Given the description of an element on the screen output the (x, y) to click on. 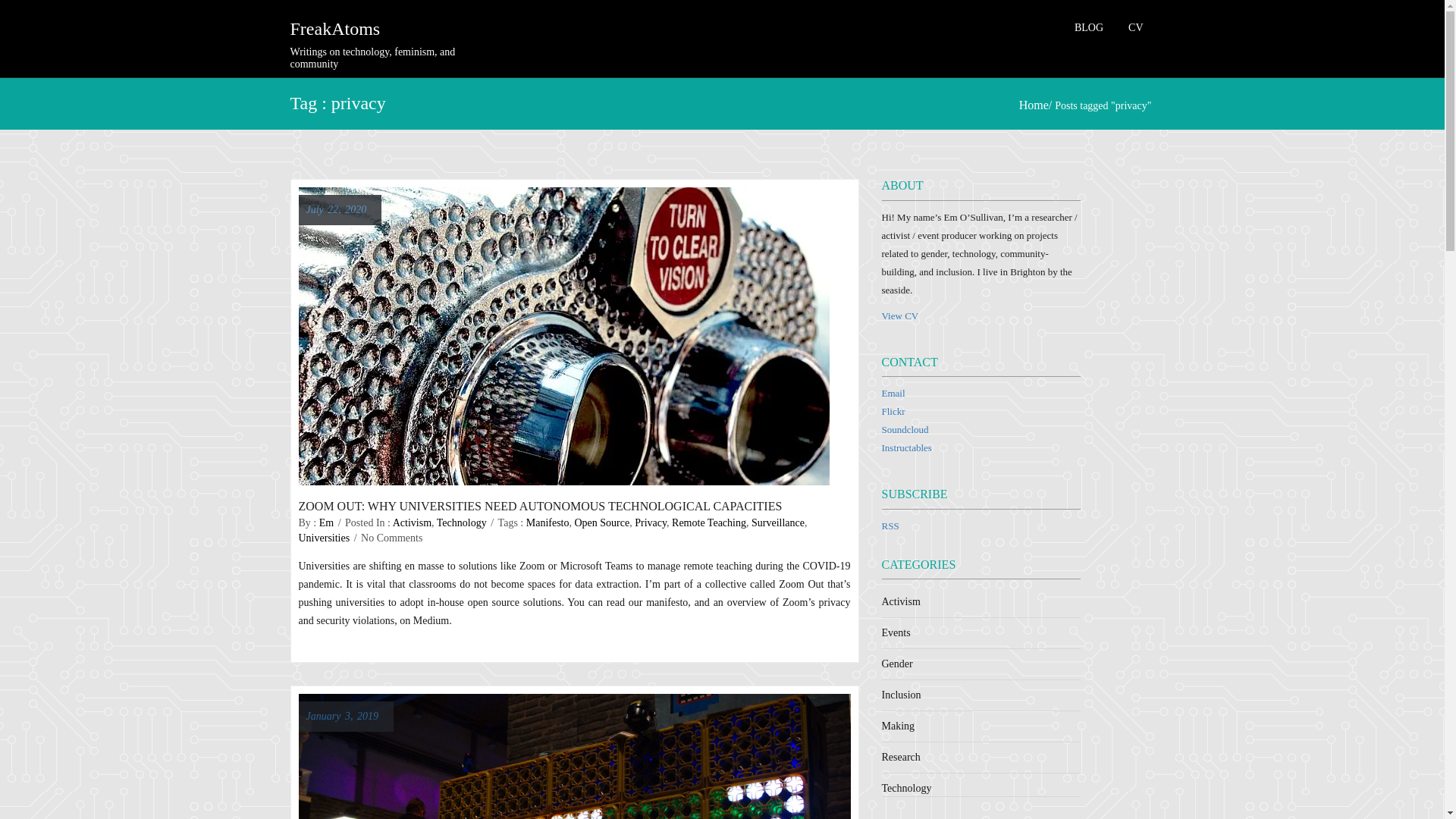
View all posts by Em (325, 522)
Manifesto (547, 522)
Open Source (602, 522)
Activism (411, 522)
Flickr (892, 410)
July 22, 2020 (335, 209)
Email (892, 392)
Instructables (905, 447)
